Given the description of an element on the screen output the (x, y) to click on. 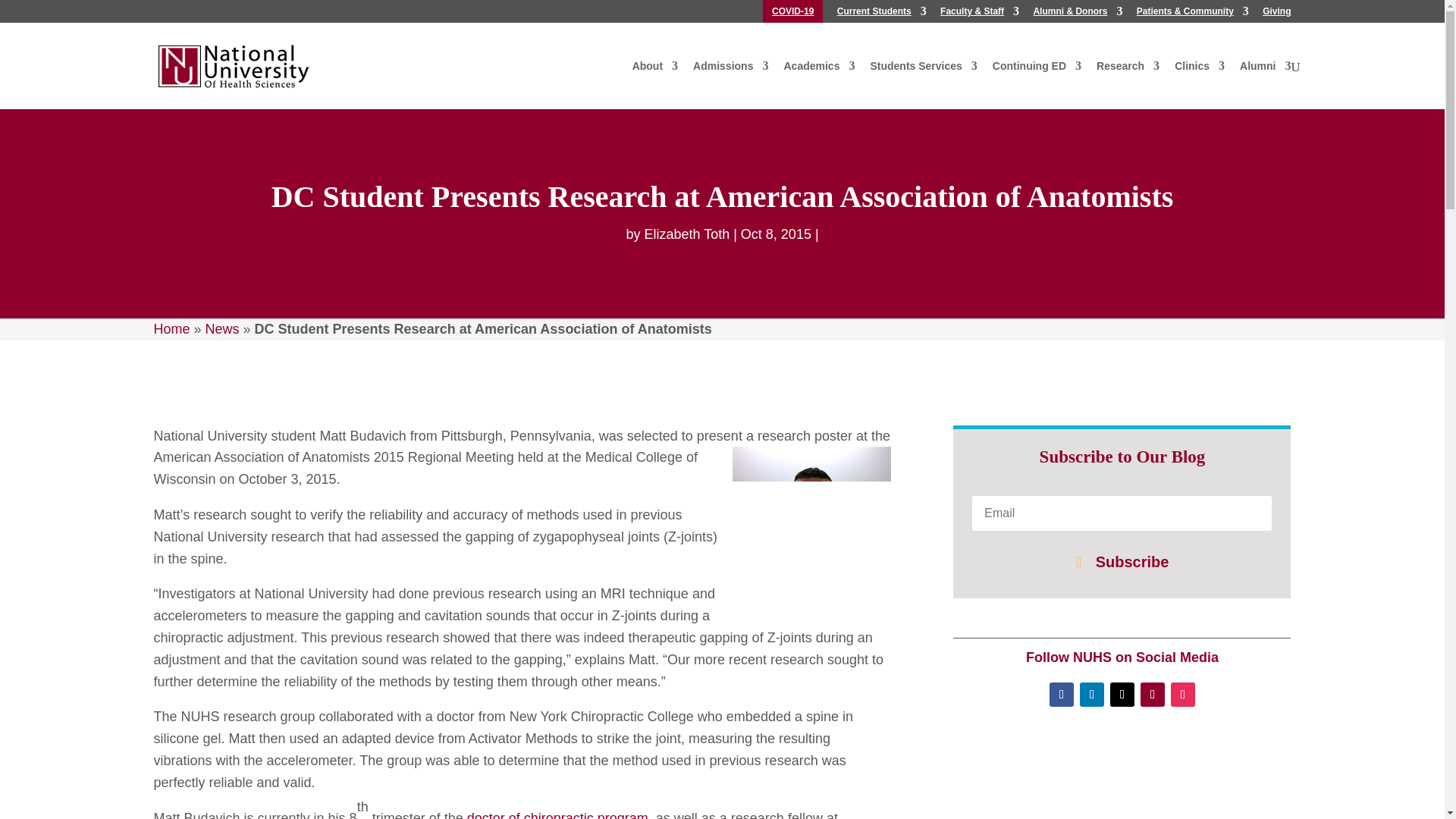
Posts by Elizabeth Toth (686, 233)
Giving (1276, 14)
COVID-19 (792, 14)
Follow on X (1121, 694)
Follow on Facebook (1061, 694)
Follow on Instagram (1182, 694)
About (654, 73)
Follow on LinkedIn (1091, 694)
Current Students (881, 14)
Follow on Youtube (1152, 694)
